Given the description of an element on the screen output the (x, y) to click on. 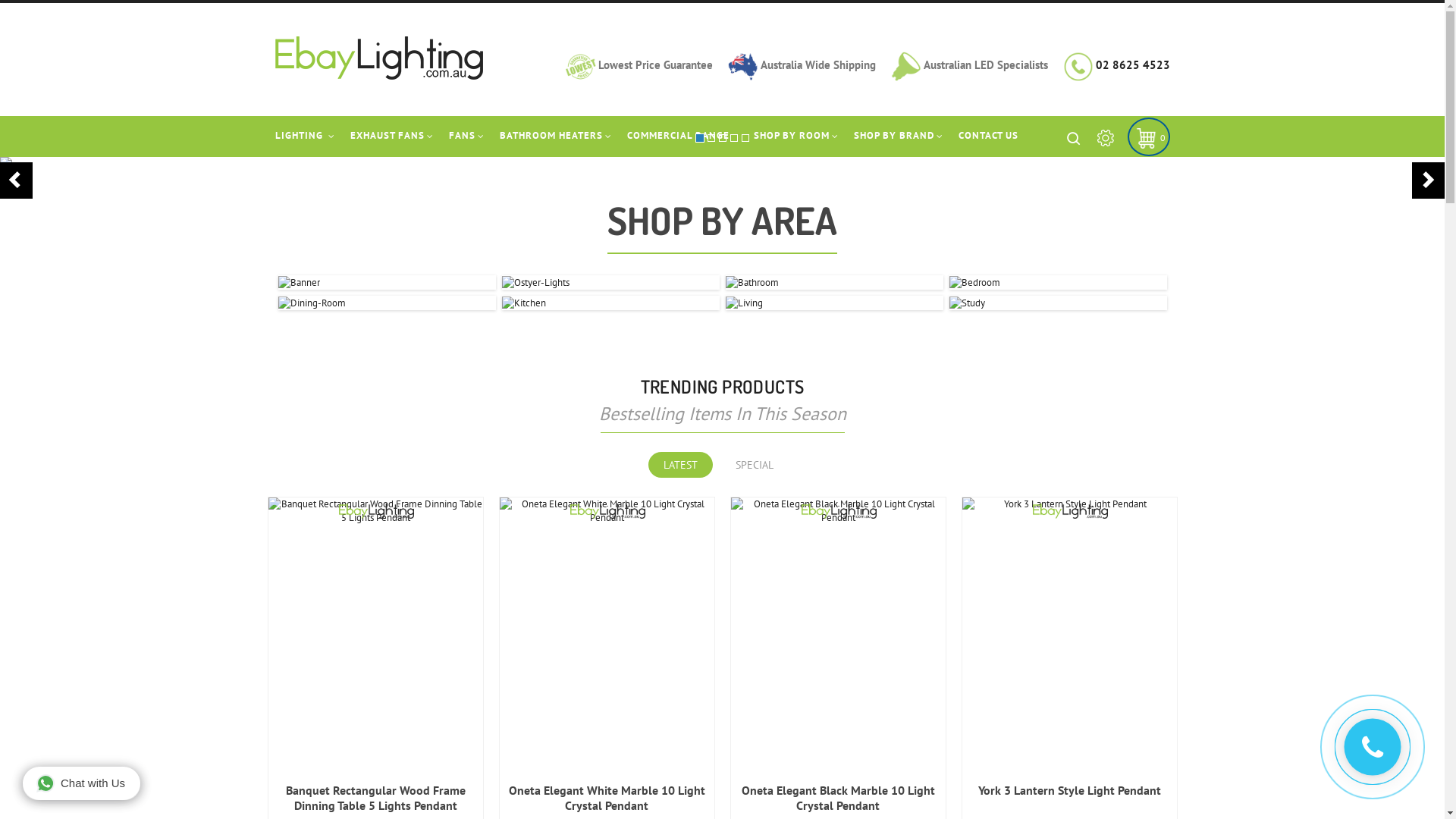
0 Element type: text (1145, 137)
22%
OFF Element type: text (375, 510)
63%
OFF Element type: text (605, 510)
63%
OFF Element type: text (838, 510)
29%
OFF Element type: text (1068, 504)
EXHAUST FANS Element type: text (387, 135)
Chat with Us Element type: text (81, 784)
York 3 Lantern Style Light Pendant Element type: hover (1068, 504)
Ebay Lighting Element type: hover (378, 57)
LIGHTING Element type: text (305, 135)
FANS Element type: text (461, 135)
CONTACT US Element type: text (988, 135)
BATHROOM HEATERS Element type: text (550, 135)
LATEST Element type: text (684, 464)
Oneta Elegant Black Marble 10 Light Crystal Pendant Element type: hover (838, 510)
York 3 Lantern Style Light Pendant Element type: text (1069, 789)
COMMERCIAL RANGE Element type: text (677, 135)
02 8625 4523 Element type: text (1132, 64)
SHOP BY BRAND Element type: text (893, 135)
Oneta Elegant White Marble 10 Light Crystal Pendant Element type: text (606, 797)
Oneta Elegant White Marble 10 Light Crystal Pendant Element type: hover (605, 510)
Chat with Us Element type: text (81, 783)
SHOP BY ROOM Element type: text (791, 135)
Oneta Elegant Black Marble 10 Light Crystal Pendant Element type: text (838, 797)
SPECIAL Element type: text (758, 464)
